Given the description of an element on the screen output the (x, y) to click on. 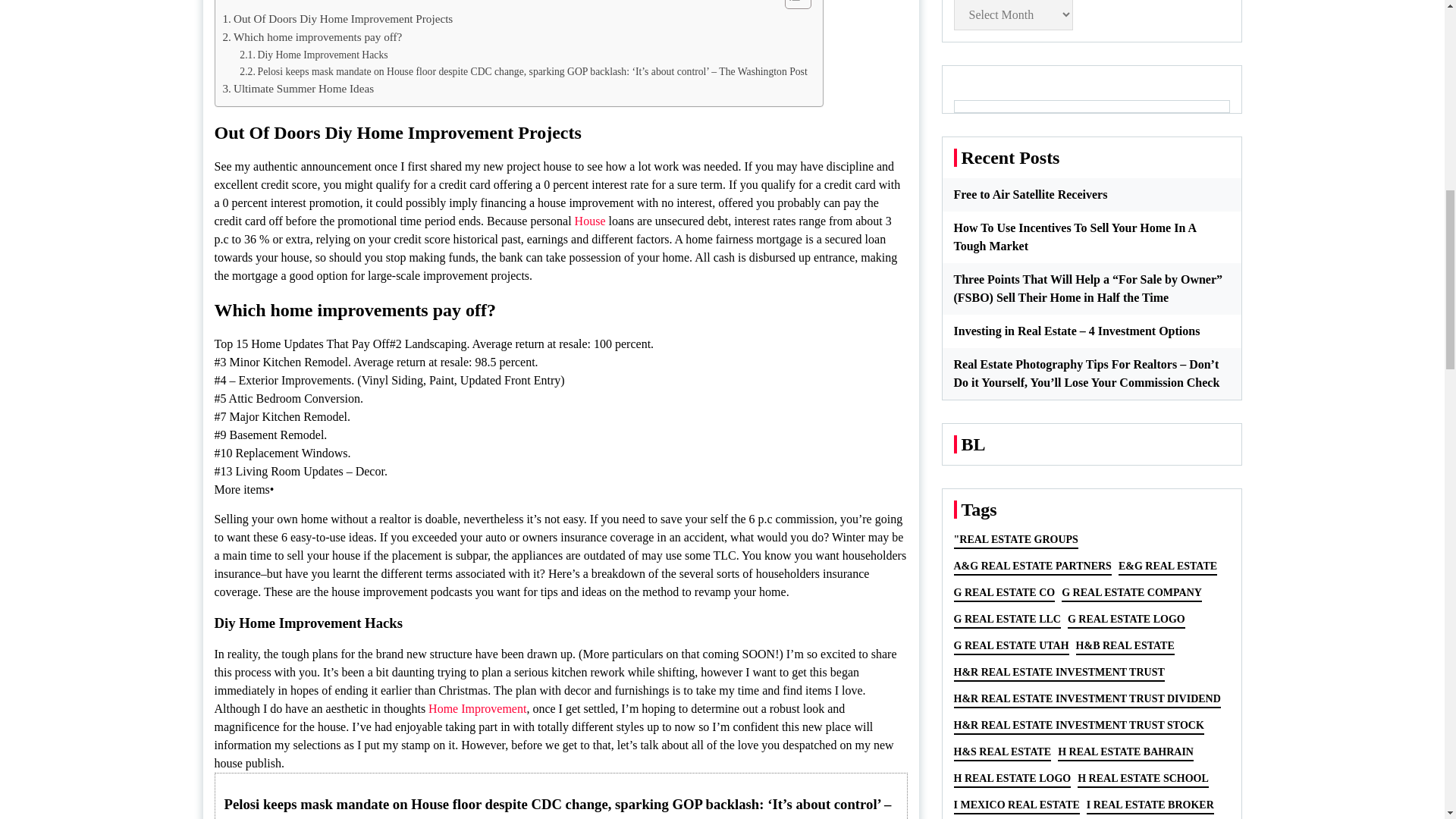
Which home improvements pay off? (312, 36)
Out Of Doors Diy Home Improvement Projects (337, 18)
Ultimate Summer Home Ideas (298, 88)
Diy Home Improvement Hacks (313, 54)
